Given the description of an element on the screen output the (x, y) to click on. 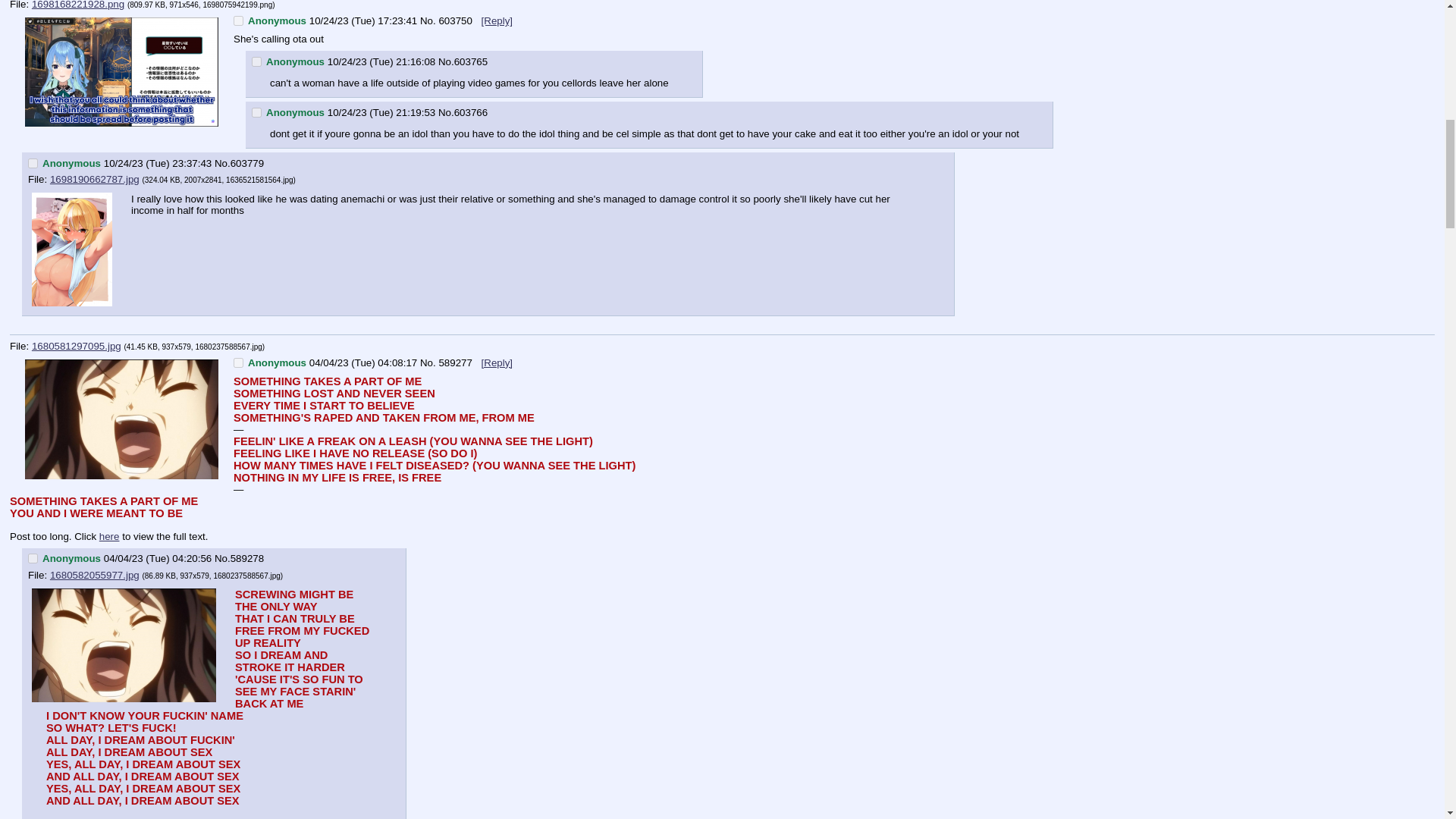
No. (222, 163)
603765 (470, 61)
1698168221928.png (77, 4)
589277 (456, 362)
on (256, 61)
1698190662787.jpg (94, 179)
No. (446, 61)
on (32, 558)
No. (446, 112)
on (237, 20)
